Given the description of an element on the screen output the (x, y) to click on. 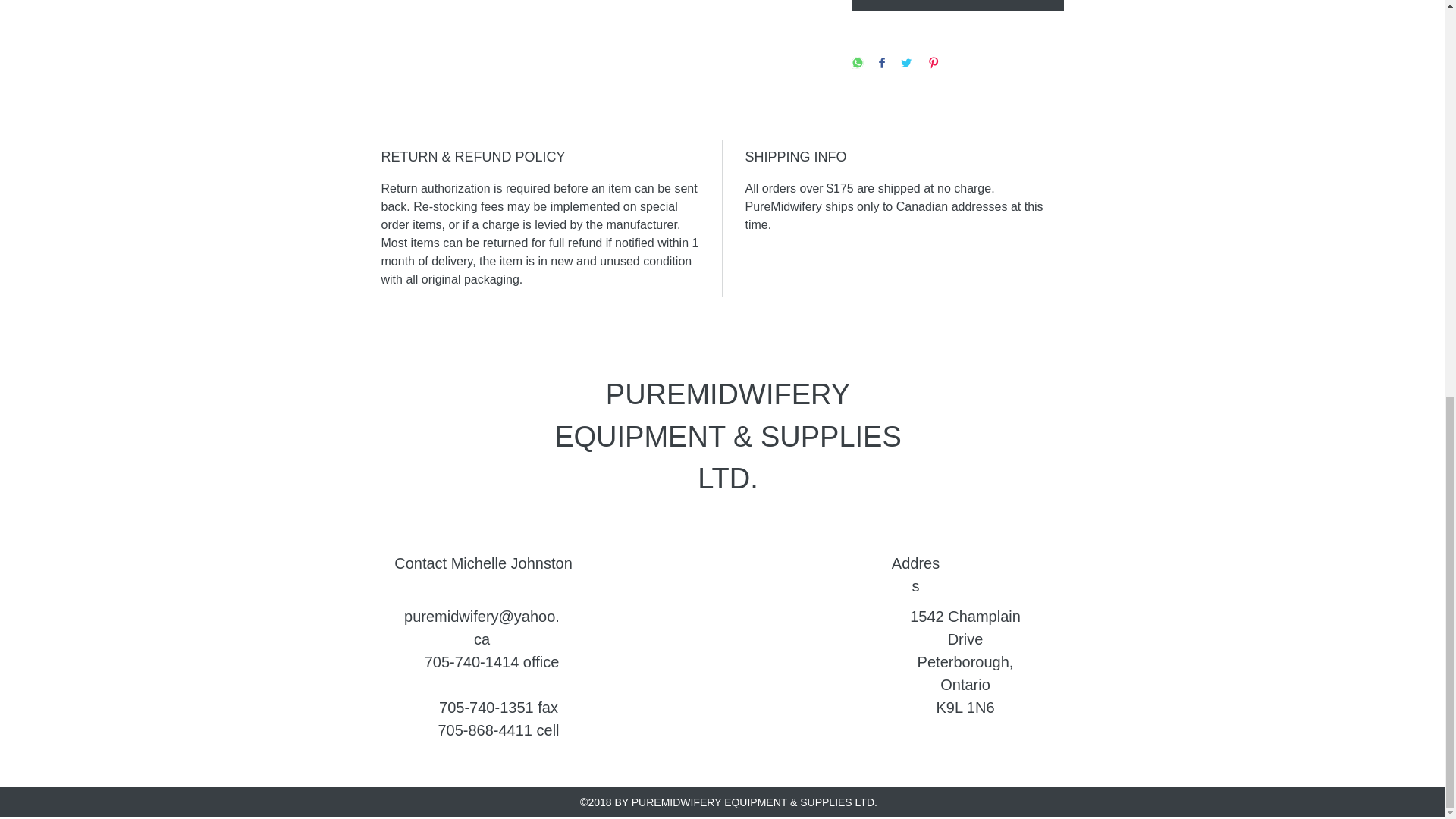
Add to Cart (956, 5)
